Given the description of an element on the screen output the (x, y) to click on. 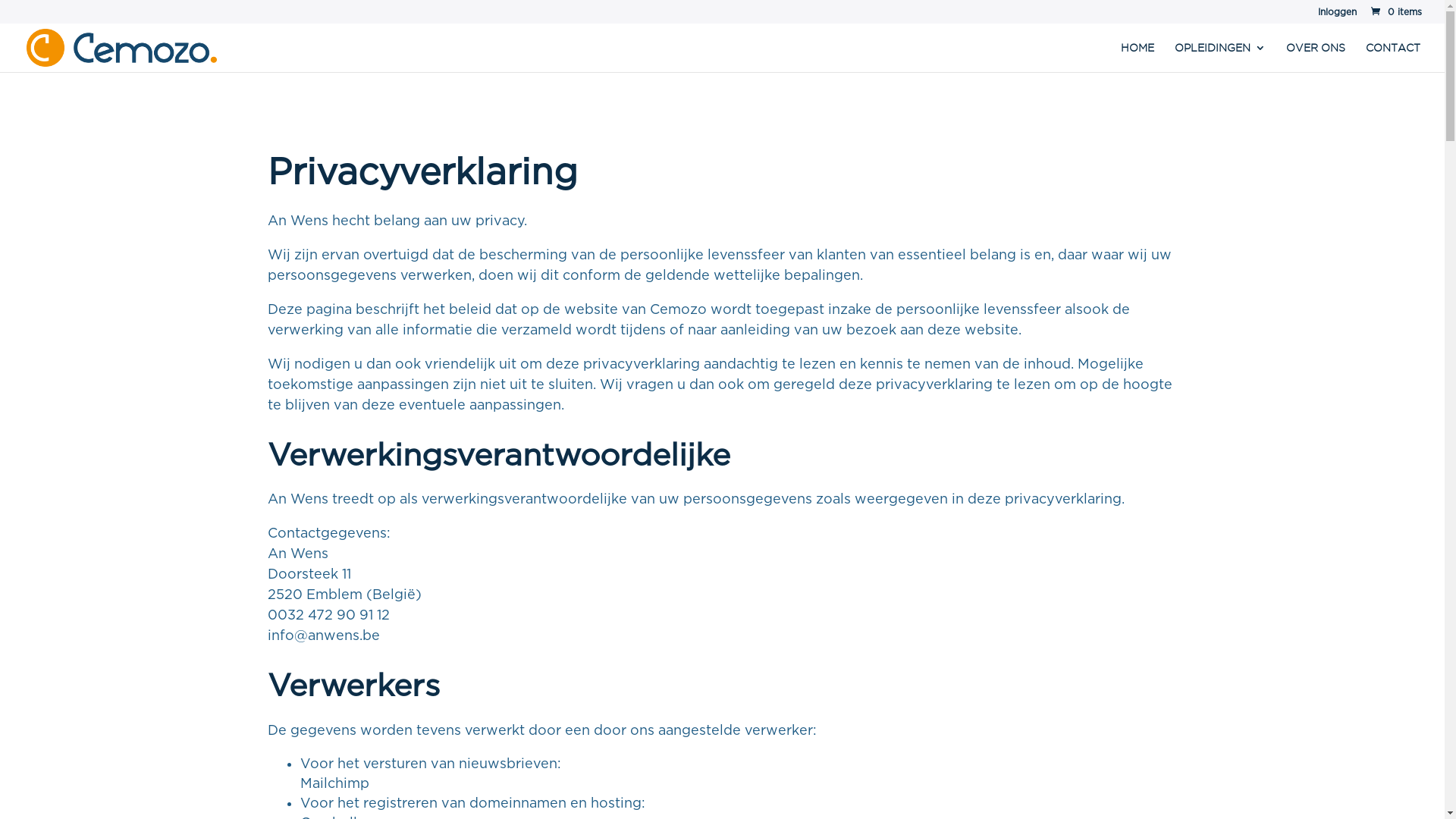
OVER ONS Element type: text (1315, 57)
OPLEIDINGEN Element type: text (1219, 57)
HOME Element type: text (1137, 57)
0 items Element type: text (1394, 11)
Inloggen Element type: text (1336, 15)
CONTACT Element type: text (1392, 57)
